Given the description of an element on the screen output the (x, y) to click on. 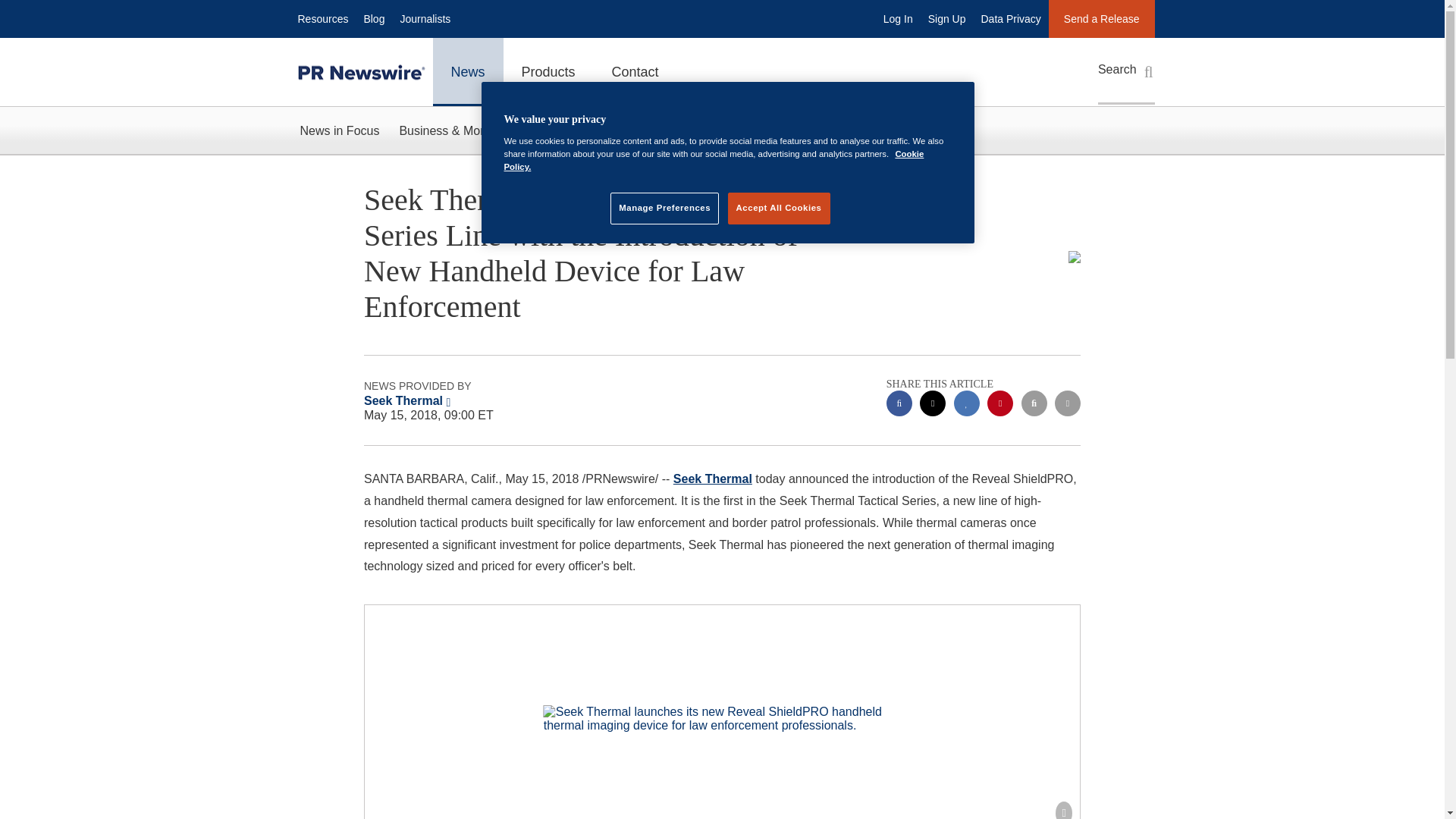
News in Focus (338, 130)
